Given the description of an element on the screen output the (x, y) to click on. 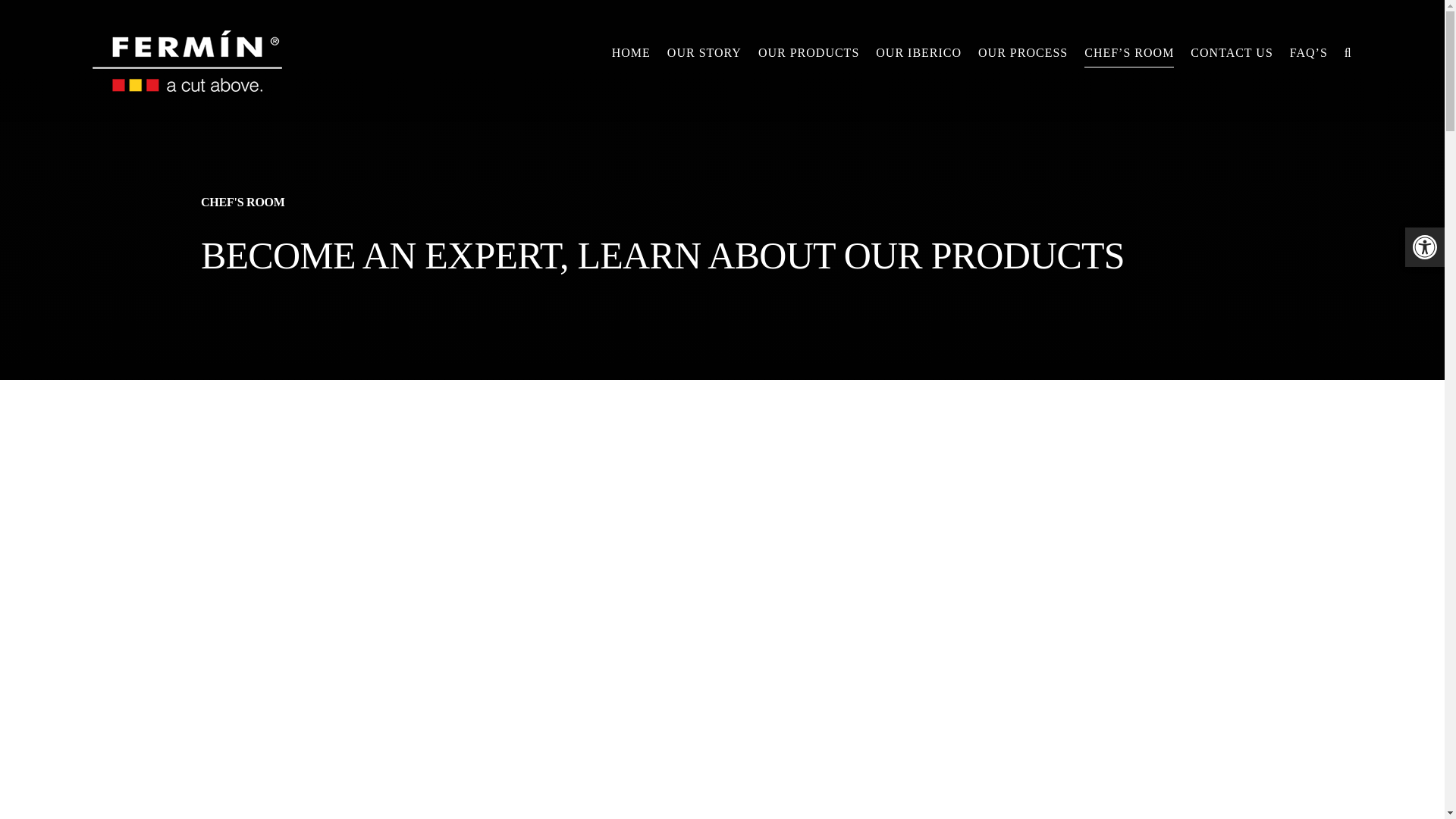
OUR IBERICO (918, 53)
CONTACT US (1231, 53)
OUR STORY (703, 53)
OUR PROCESS (1022, 53)
Accessibility Tools (1424, 247)
OUR PRODUCTS (808, 53)
